Given the description of an element on the screen output the (x, y) to click on. 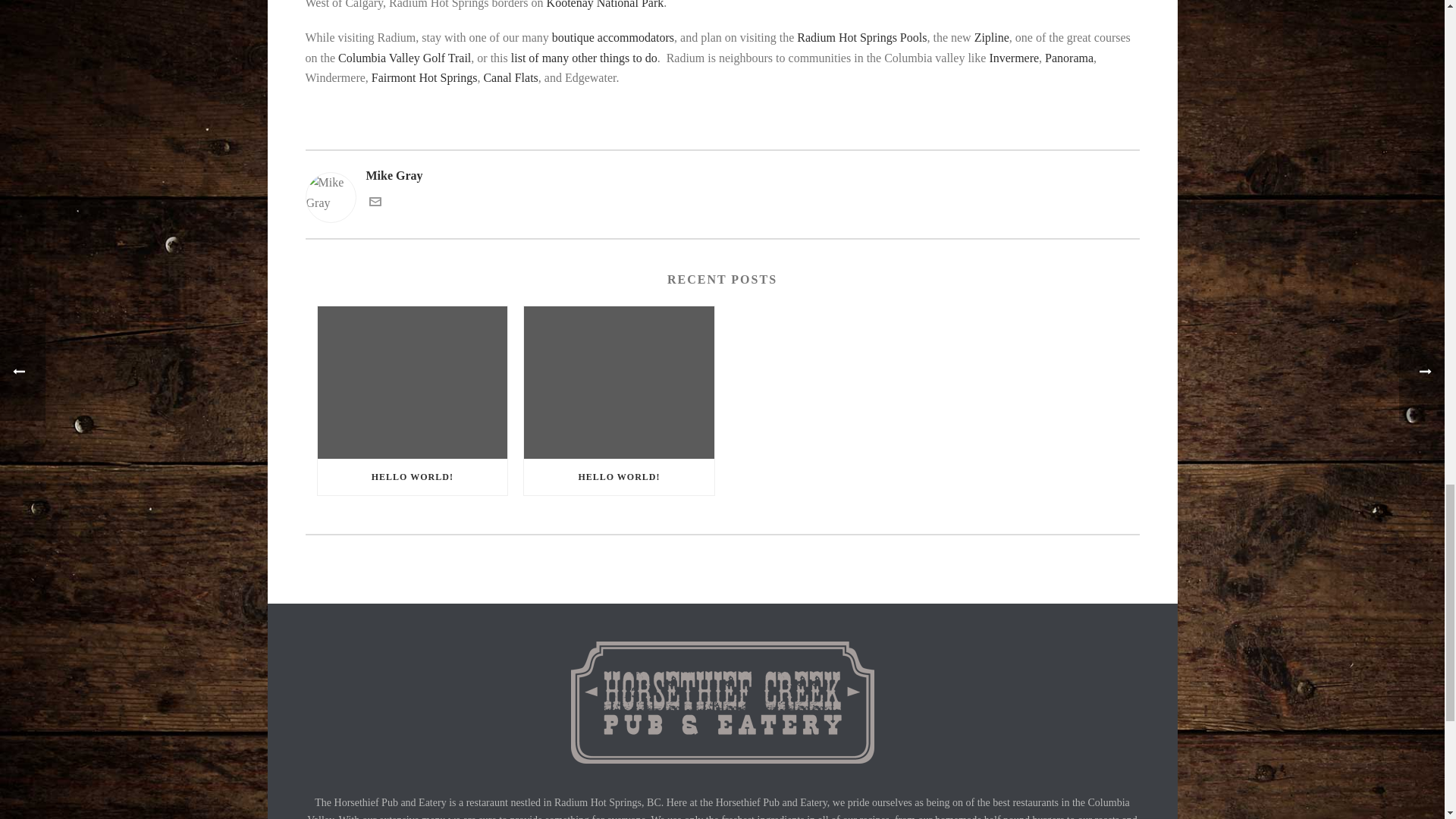
Get in touch with me via email (374, 203)
Hello world! (411, 382)
Hello world! (619, 382)
